Given the description of an element on the screen output the (x, y) to click on. 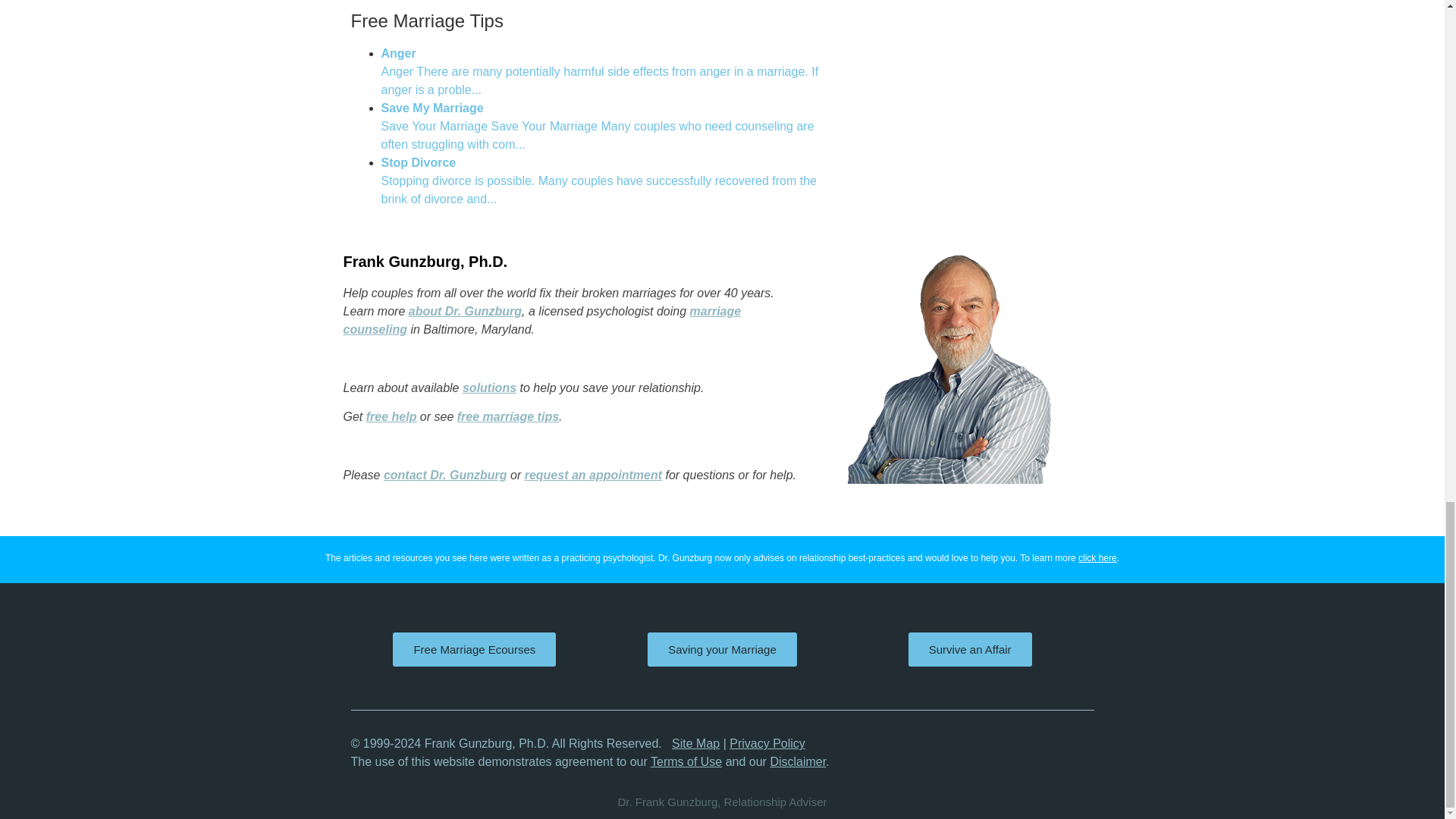
Stop Divorce (598, 180)
Anger (599, 71)
Save My Marriage (596, 125)
